Given the description of an element on the screen output the (x, y) to click on. 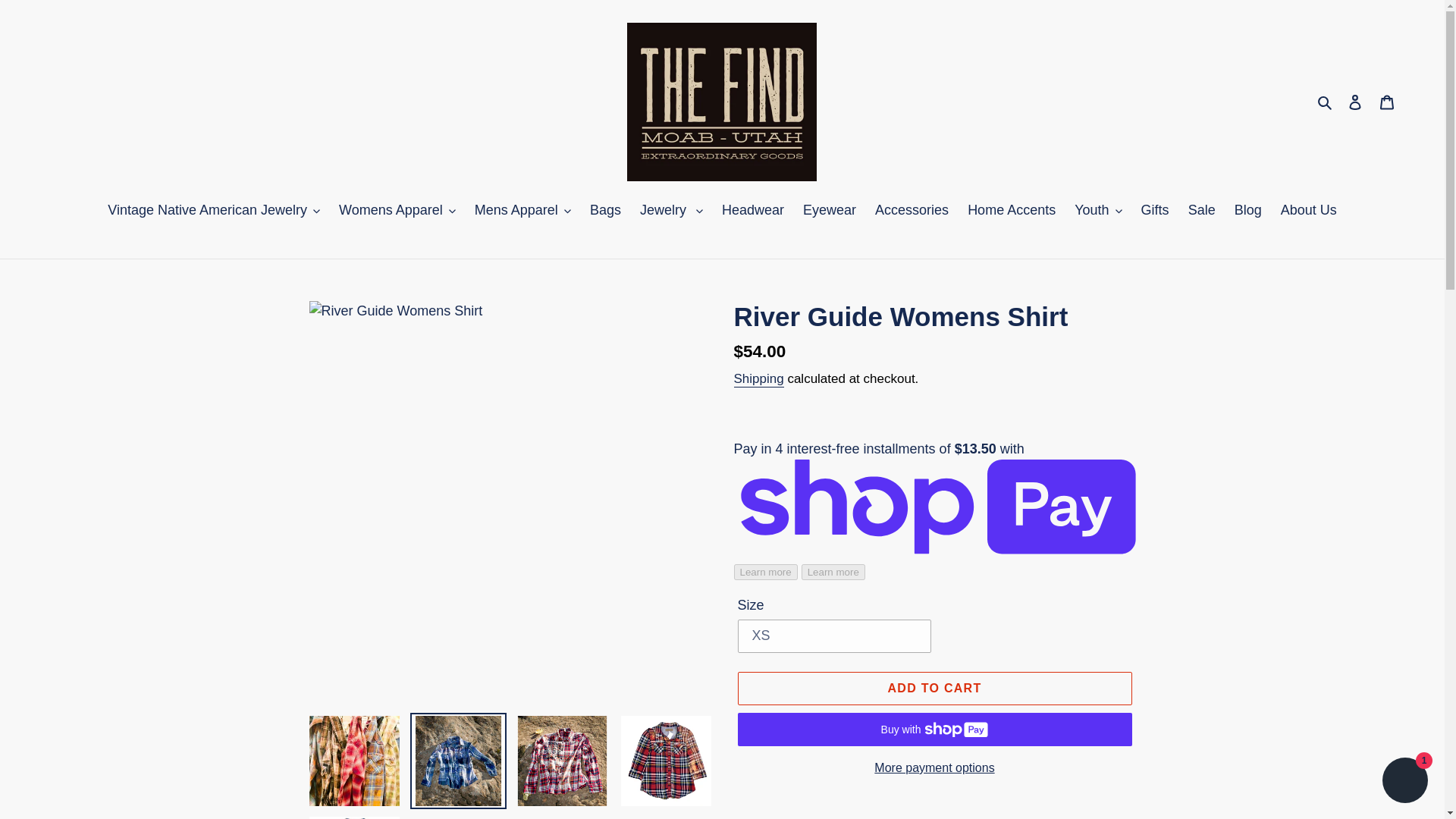
Log in (1355, 101)
Cart (1387, 101)
Search (1326, 101)
Shopify online store chat (1404, 781)
